Given the description of an element on the screen output the (x, y) to click on. 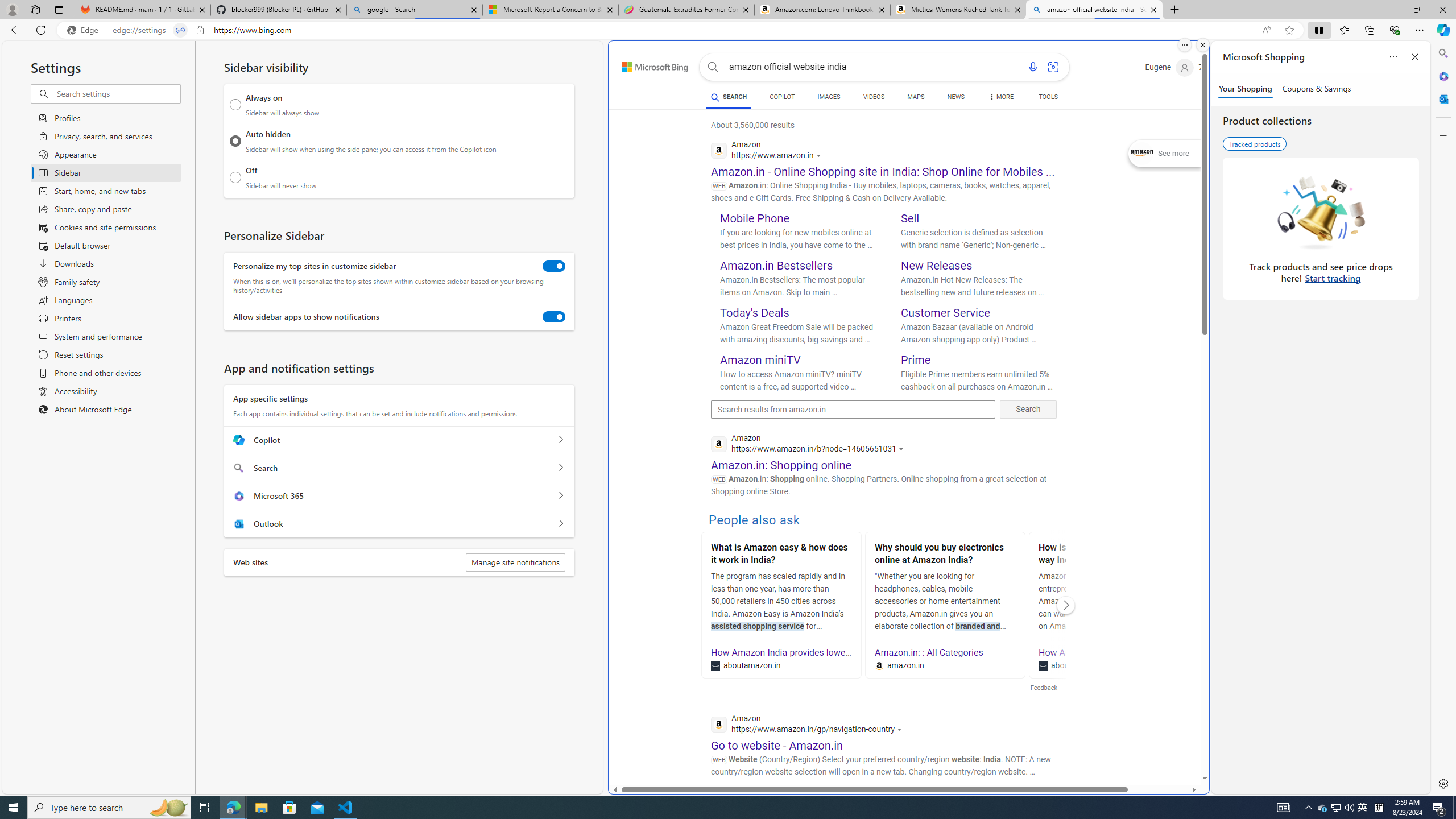
Tabs in split screen (180, 29)
Allow sidebar apps to show notifications (553, 316)
Search using an image (1052, 66)
Prime (915, 359)
Click to scroll right (1065, 605)
Search button (713, 66)
Amazon (830, 805)
